Given the description of an element on the screen output the (x, y) to click on. 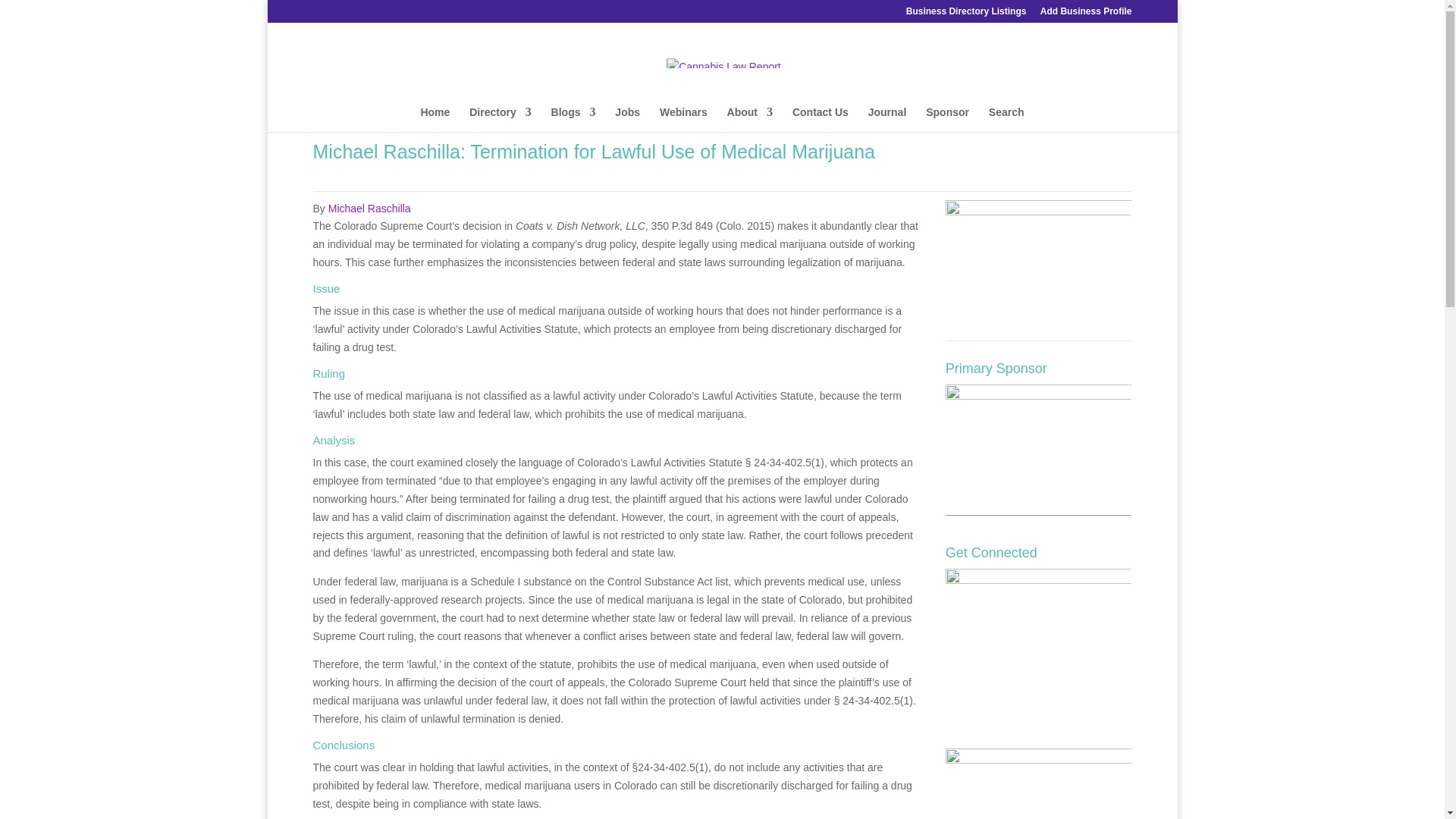
Business Directory Listings (965, 14)
View all posts by Michael Raschilla (369, 208)
Blogs (573, 119)
Directory (499, 119)
Screen Shot 2022-05-24 at 6.31.34 pm (1038, 259)
Add Business Profile (1086, 14)
Home (434, 119)
